Given the description of an element on the screen output the (x, y) to click on. 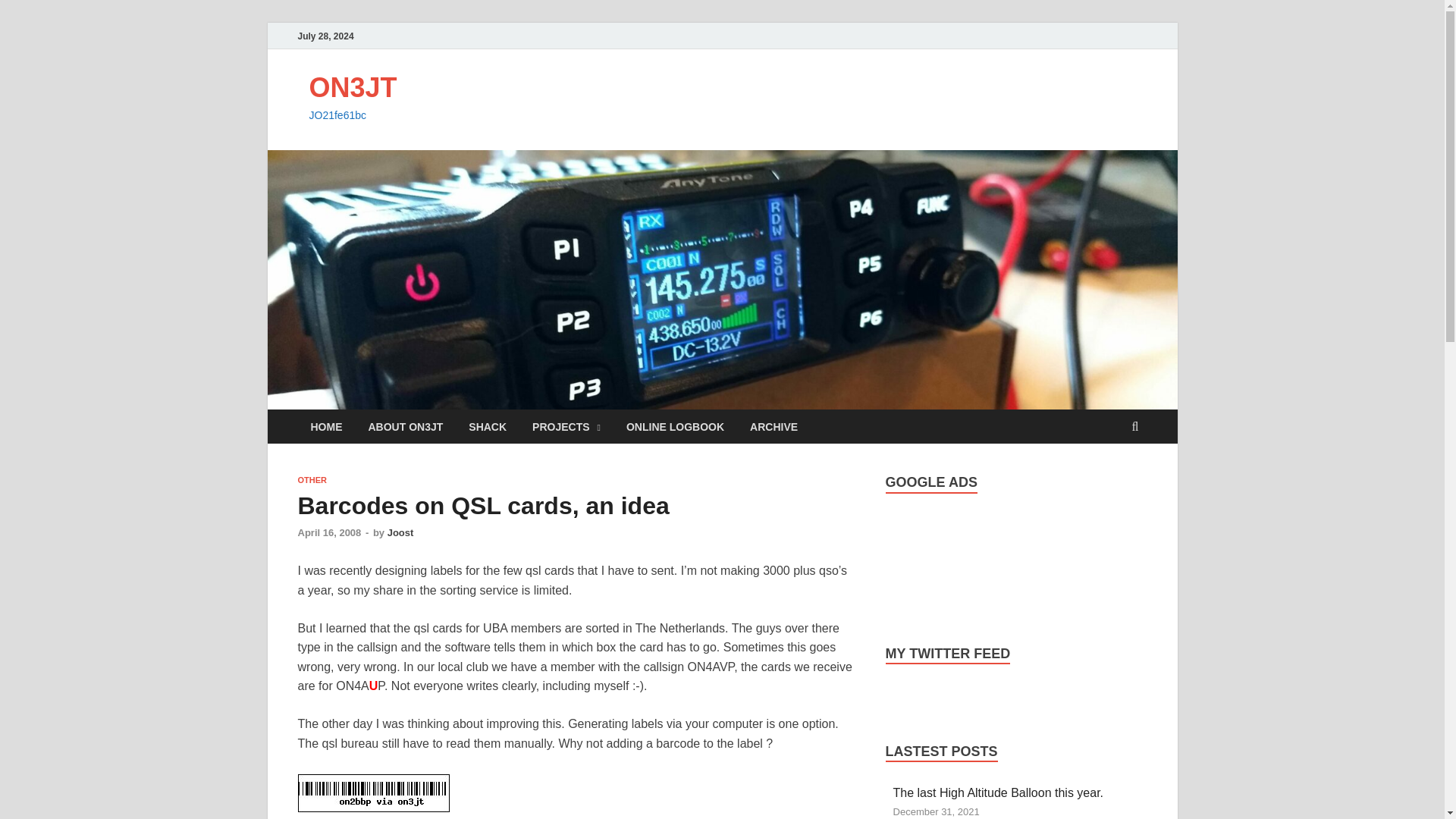
HOME (326, 426)
ONLINE LOGBOOK (674, 426)
April 16, 2008 (329, 532)
Joost (400, 532)
The last High Altitude Balloon this year. (998, 792)
PROJECTS (565, 426)
ON3JT (352, 87)
barcodeimage.jpg (372, 792)
SHACK (487, 426)
ABOUT ON3JT (405, 426)
ARCHIVE (773, 426)
OTHER (311, 479)
